Given the description of an element on the screen output the (x, y) to click on. 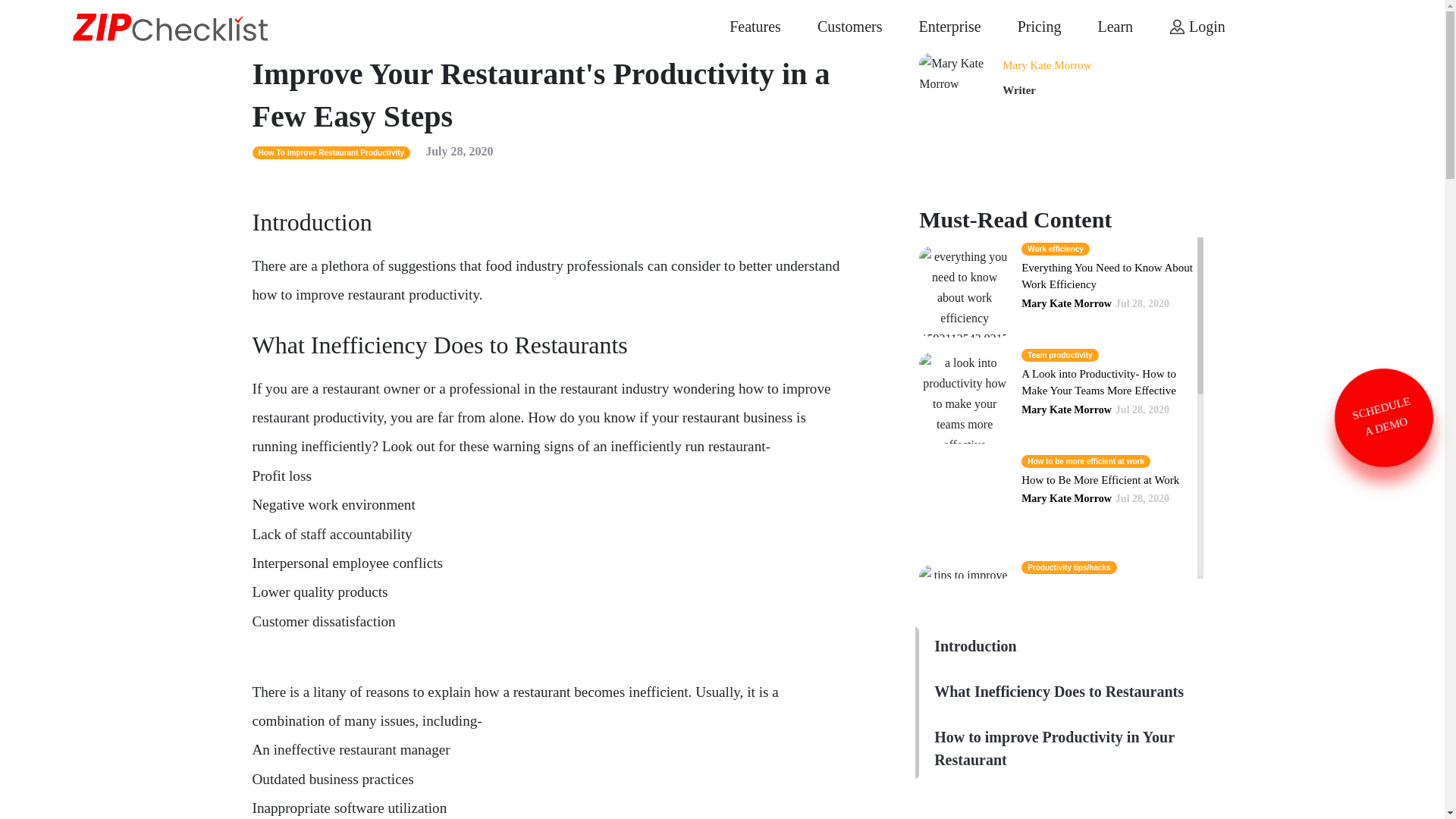
Pricing (1039, 26)
How to Be More Efficient at Work (1100, 480)
Learn (1114, 26)
Everything You Need to Know About Work Efficiency (1107, 276)
Customers (849, 26)
Tips to Improve Productivity in the Workplace (1102, 594)
Improving Work Efficiency and Why it Matters (1106, 805)
Mary Kate Morrow (1046, 64)
